Given the description of an element on the screen output the (x, y) to click on. 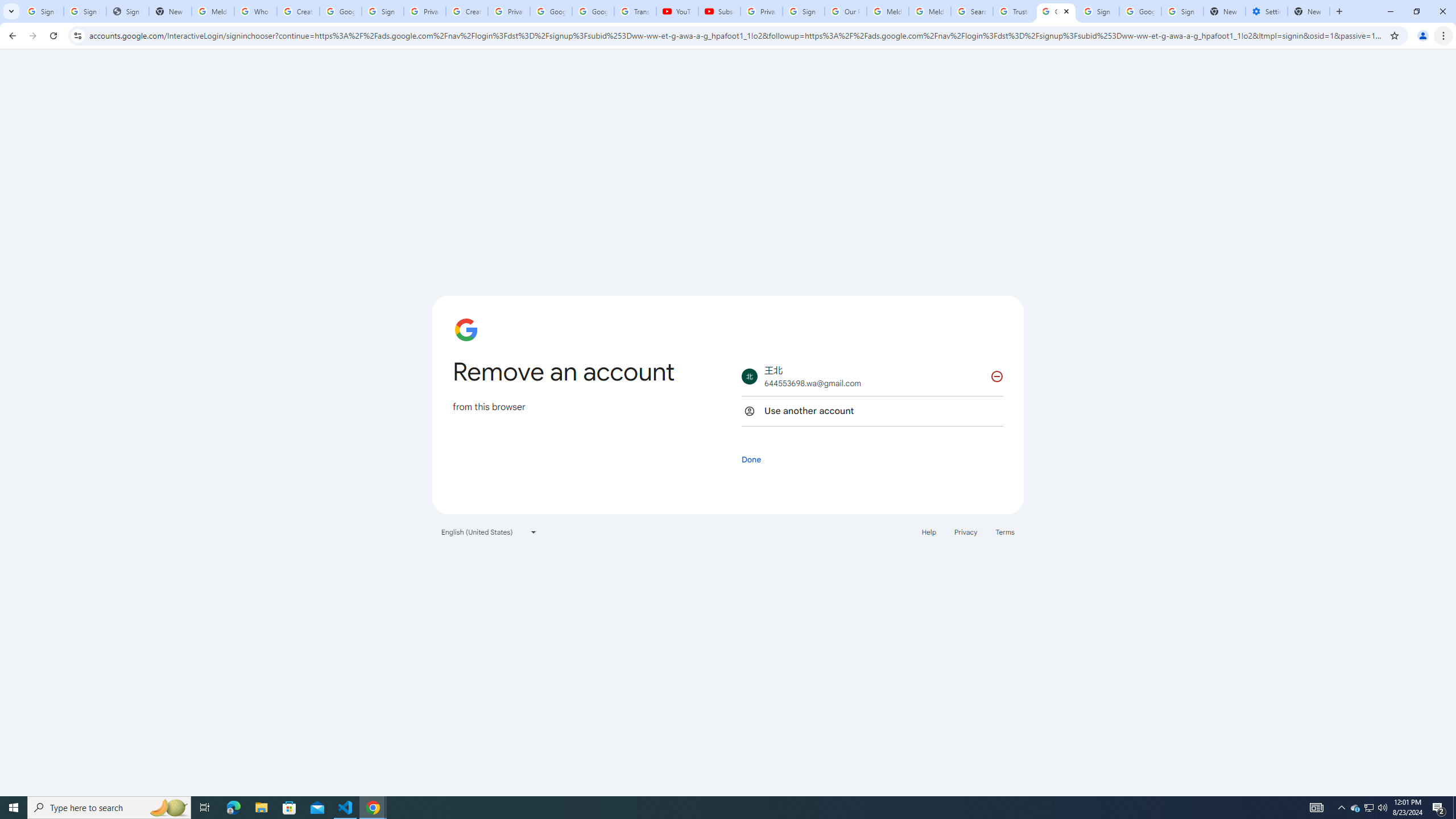
Who is my administrator? - Google Account Help (255, 11)
Sign in - Google Accounts (803, 11)
Use another account (871, 410)
YouTube (676, 11)
